Given the description of an element on the screen output the (x, y) to click on. 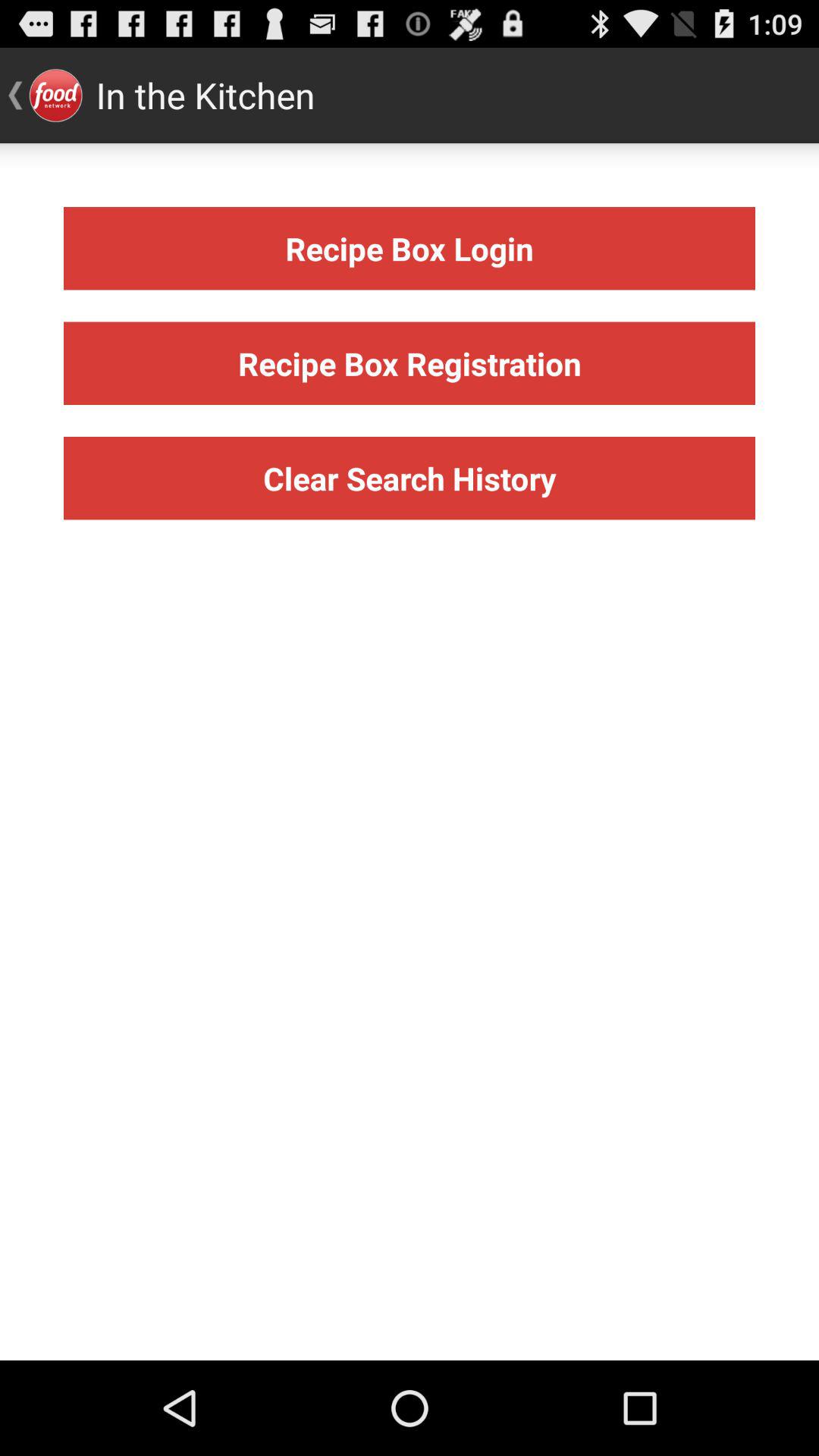
open the icon below the recipe box registration item (409, 477)
